Given the description of an element on the screen output the (x, y) to click on. 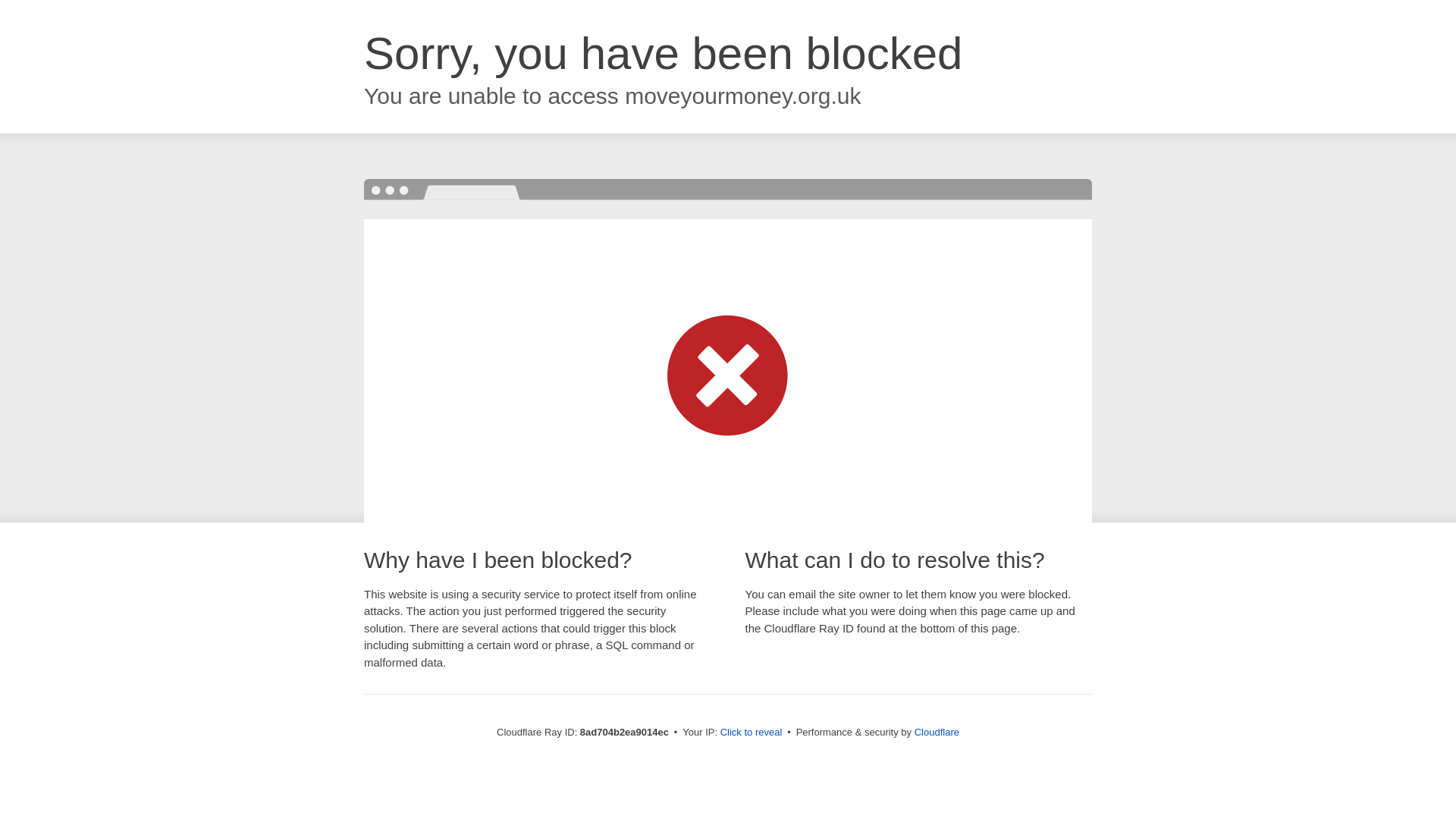
Cloudflare (936, 731)
Click to reveal (751, 732)
